Given the description of an element on the screen output the (x, y) to click on. 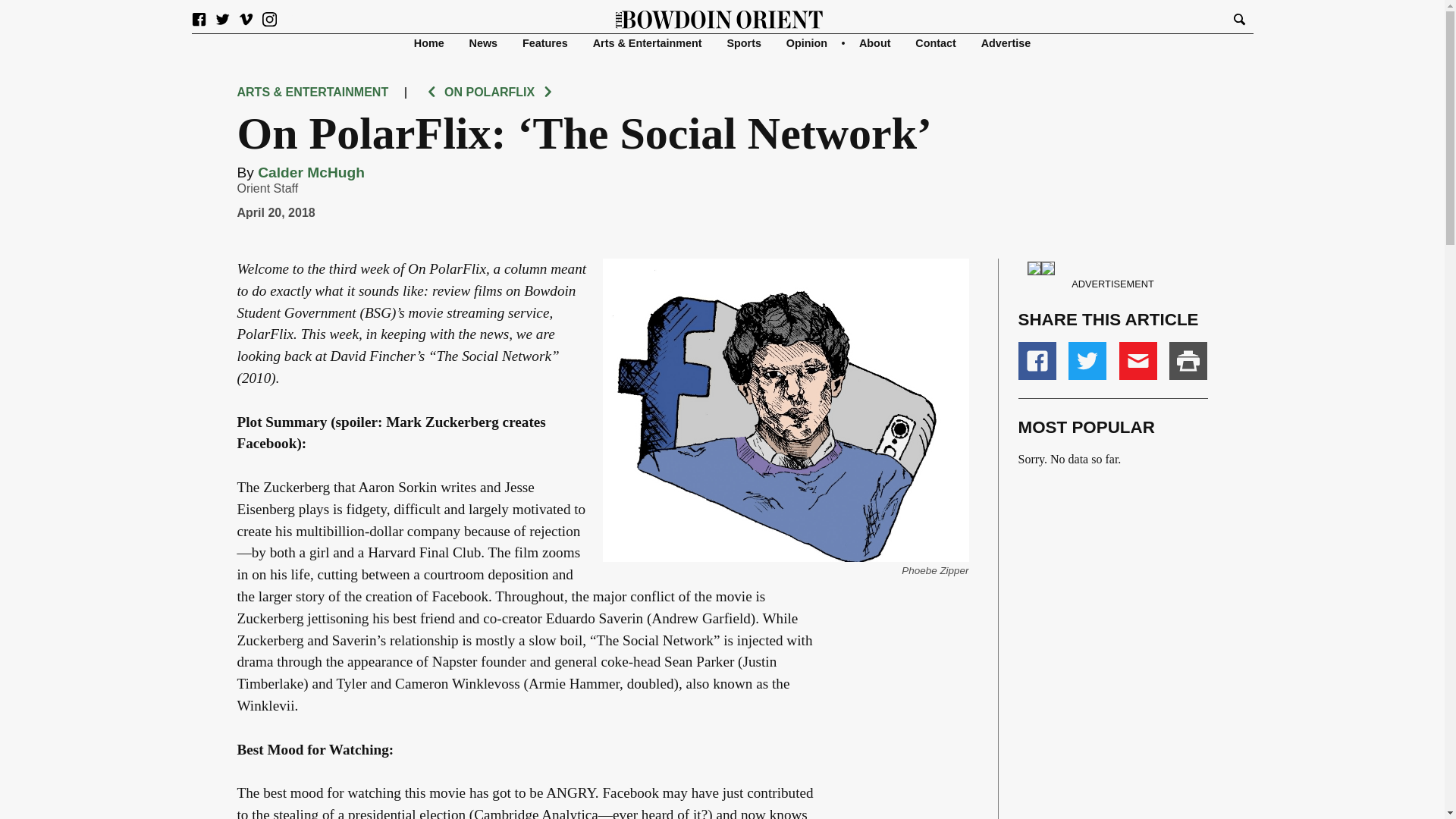
Phoebe Zipper (934, 570)
Share on Twitter (1087, 361)
News (482, 42)
ON POLARFLIX (489, 91)
Home (428, 42)
Print this article (1188, 361)
Advertise (1005, 42)
Opinion (806, 42)
Contact (935, 42)
Share via Email (1138, 361)
